Given the description of an element on the screen output the (x, y) to click on. 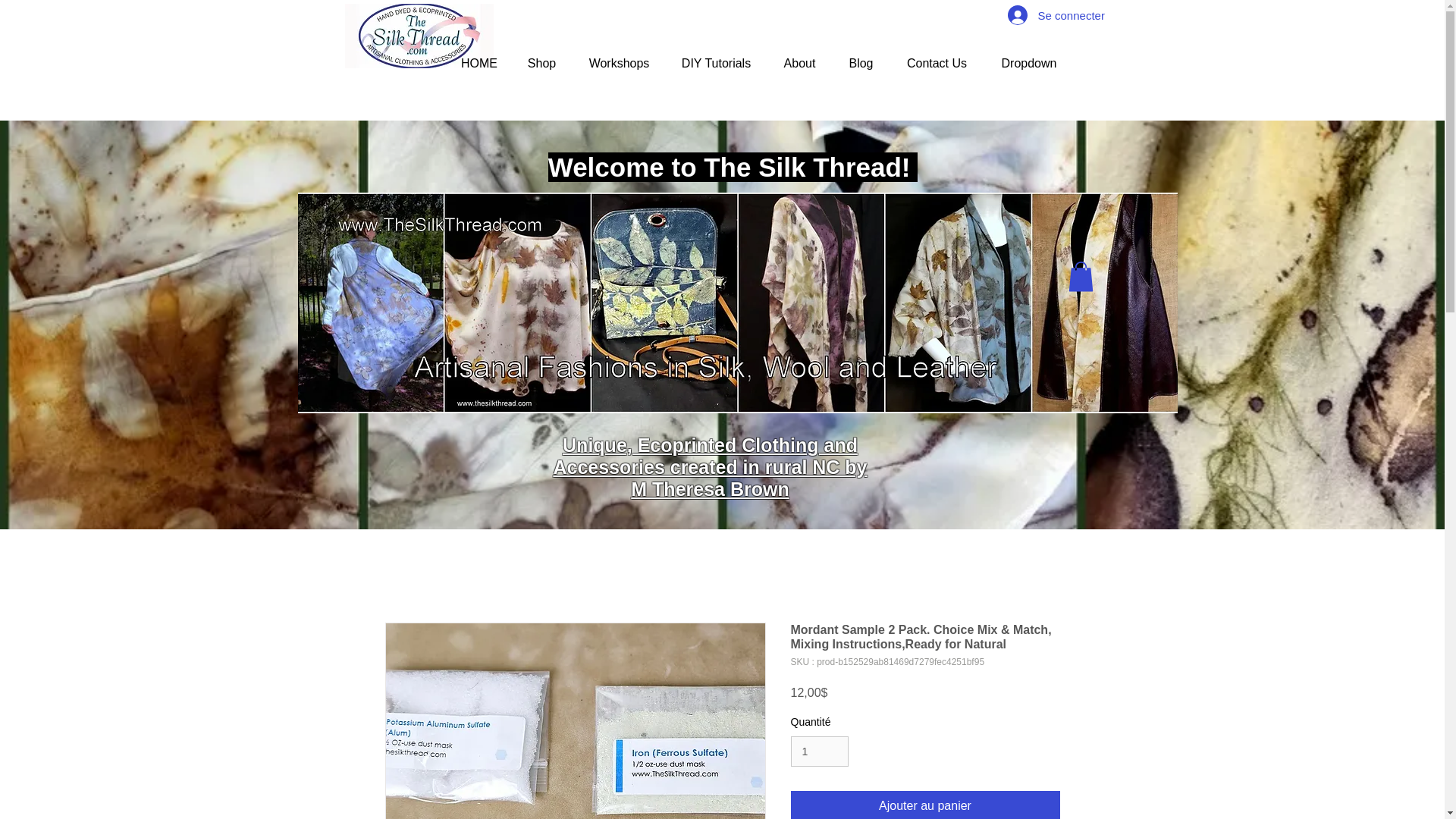
About (798, 63)
1 (818, 751)
Contact Us (936, 63)
Blog (860, 63)
DIY Tutorials (715, 63)
Shop (541, 63)
HOME (479, 63)
Ajouter au panier (924, 805)
Workshops (618, 63)
Se connecter (1041, 14)
